Given the description of an element on the screen output the (x, y) to click on. 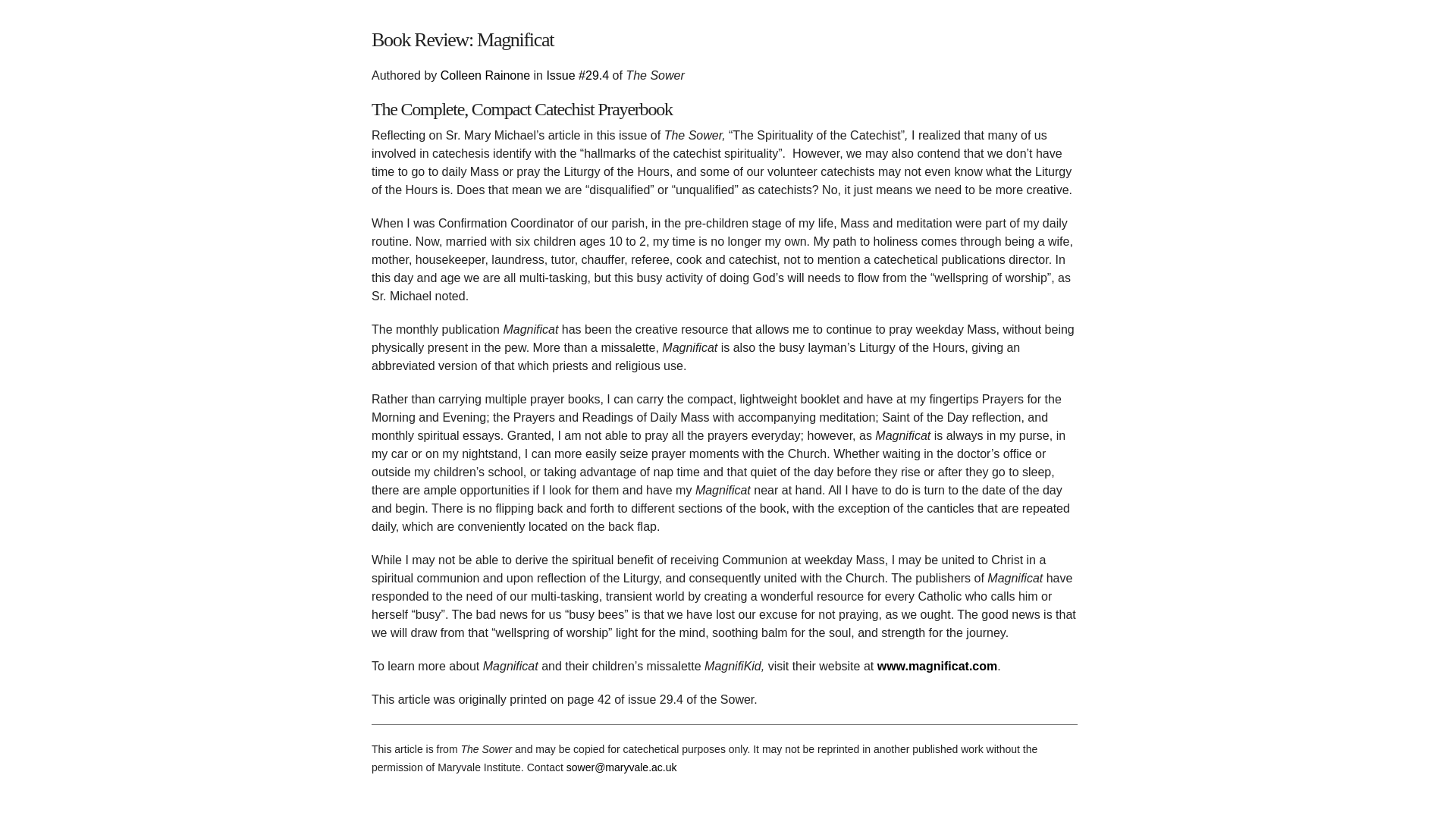
Skip to main content (691, 19)
www.magnificat.com (937, 666)
Colleen Rainone (485, 74)
